Given the description of an element on the screen output the (x, y) to click on. 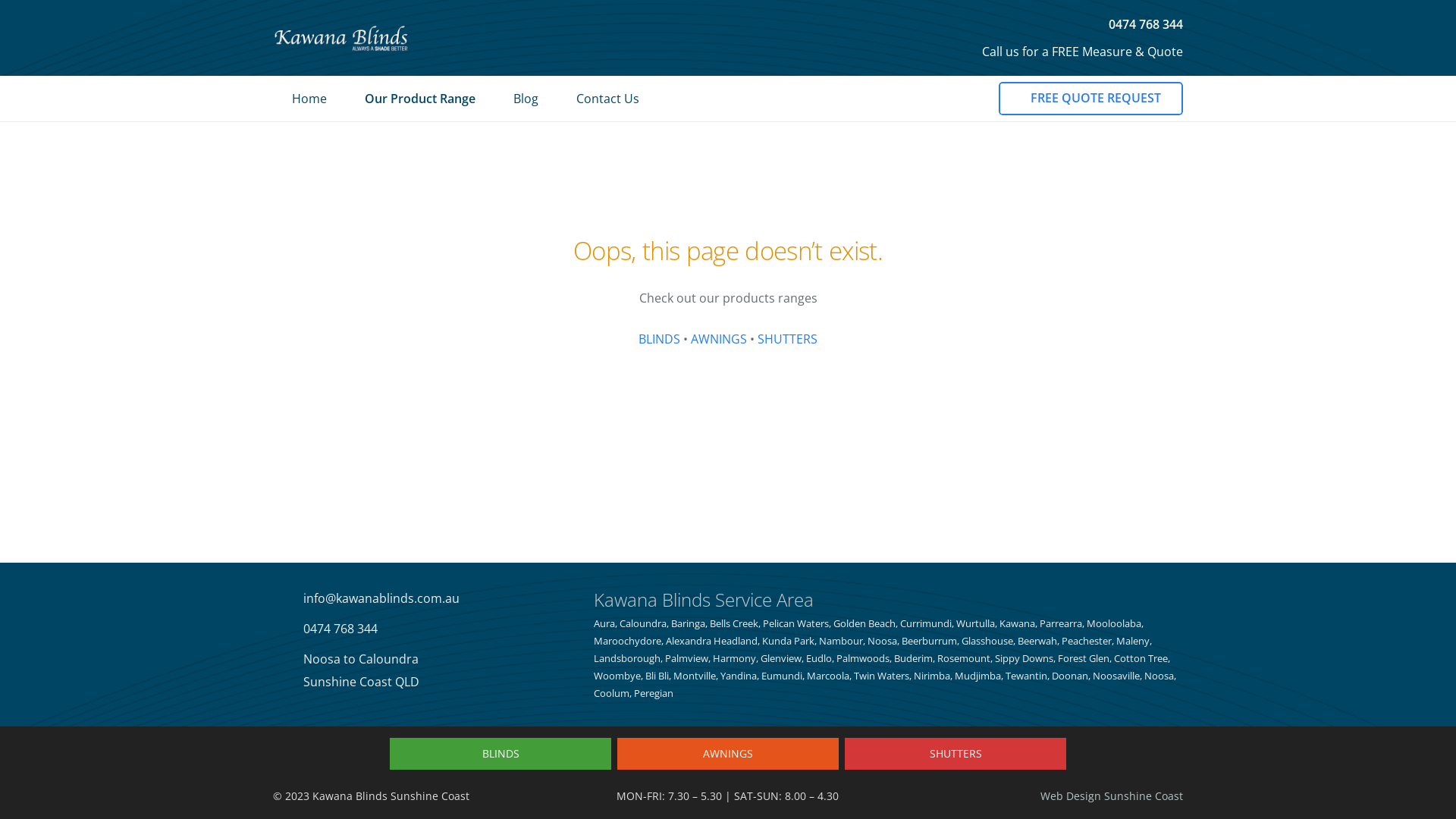
AWNINGS Element type: text (727, 753)
SHUTTERS Element type: text (787, 338)
Home Element type: text (309, 98)
Blog Element type: text (525, 98)
AWNINGS Element type: text (718, 338)
BLINDS Element type: text (500, 753)
Our Product Range Element type: text (419, 98)
0474 768 344 Element type: text (340, 628)
FREE QUOTE REQUEST Element type: text (1090, 98)
Contact Us Element type: text (607, 98)
SHUTTERS Element type: text (955, 753)
BLINDS Element type: text (659, 338)
info@kawanablinds.com.au Element type: text (381, 597)
Web Design Sunshine Coast Element type: text (1111, 795)
0474 768 344 Element type: text (1141, 23)
